Given the description of an element on the screen output the (x, y) to click on. 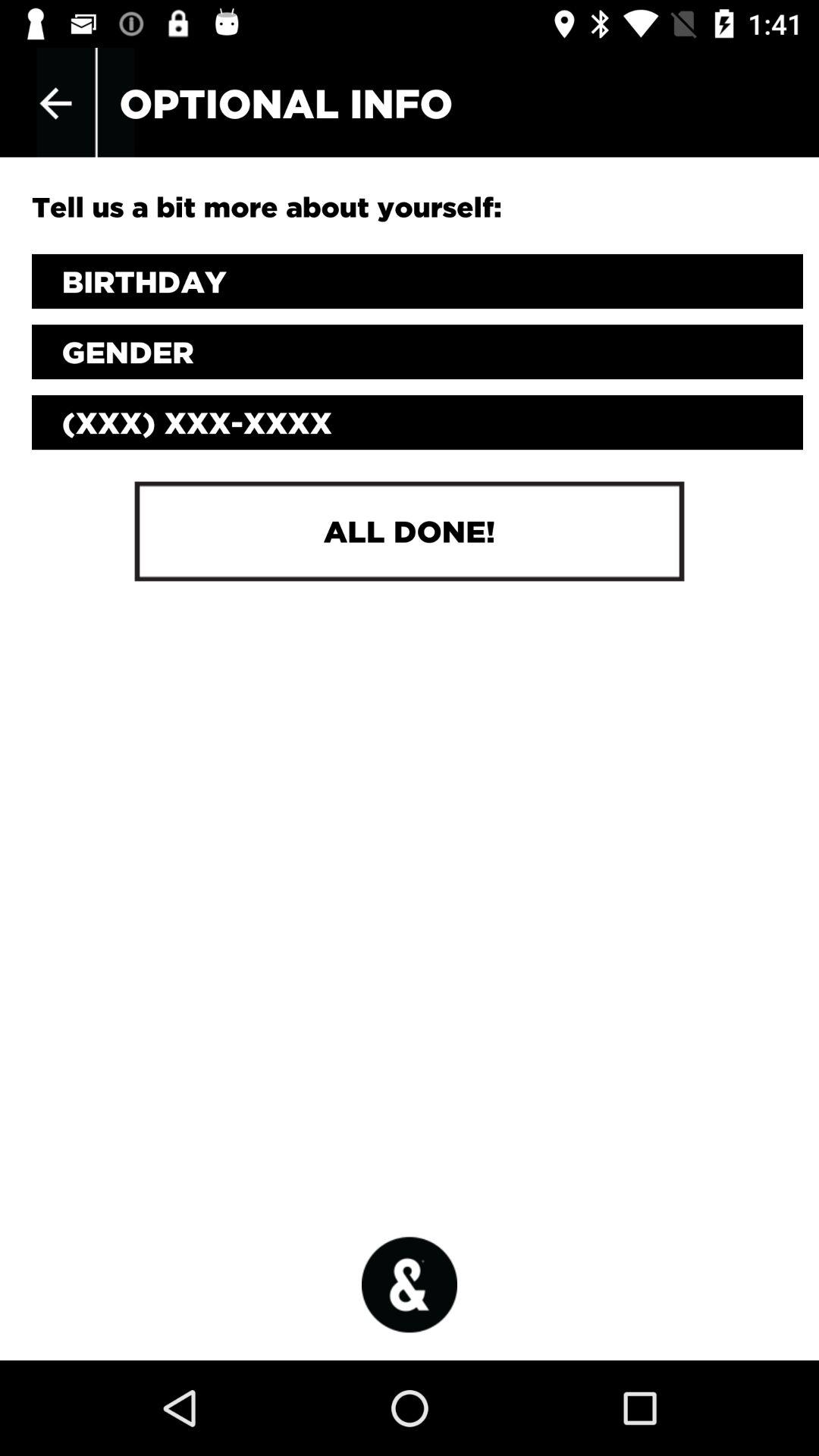
click the icon above tell us a icon (55, 103)
